Given the description of an element on the screen output the (x, y) to click on. 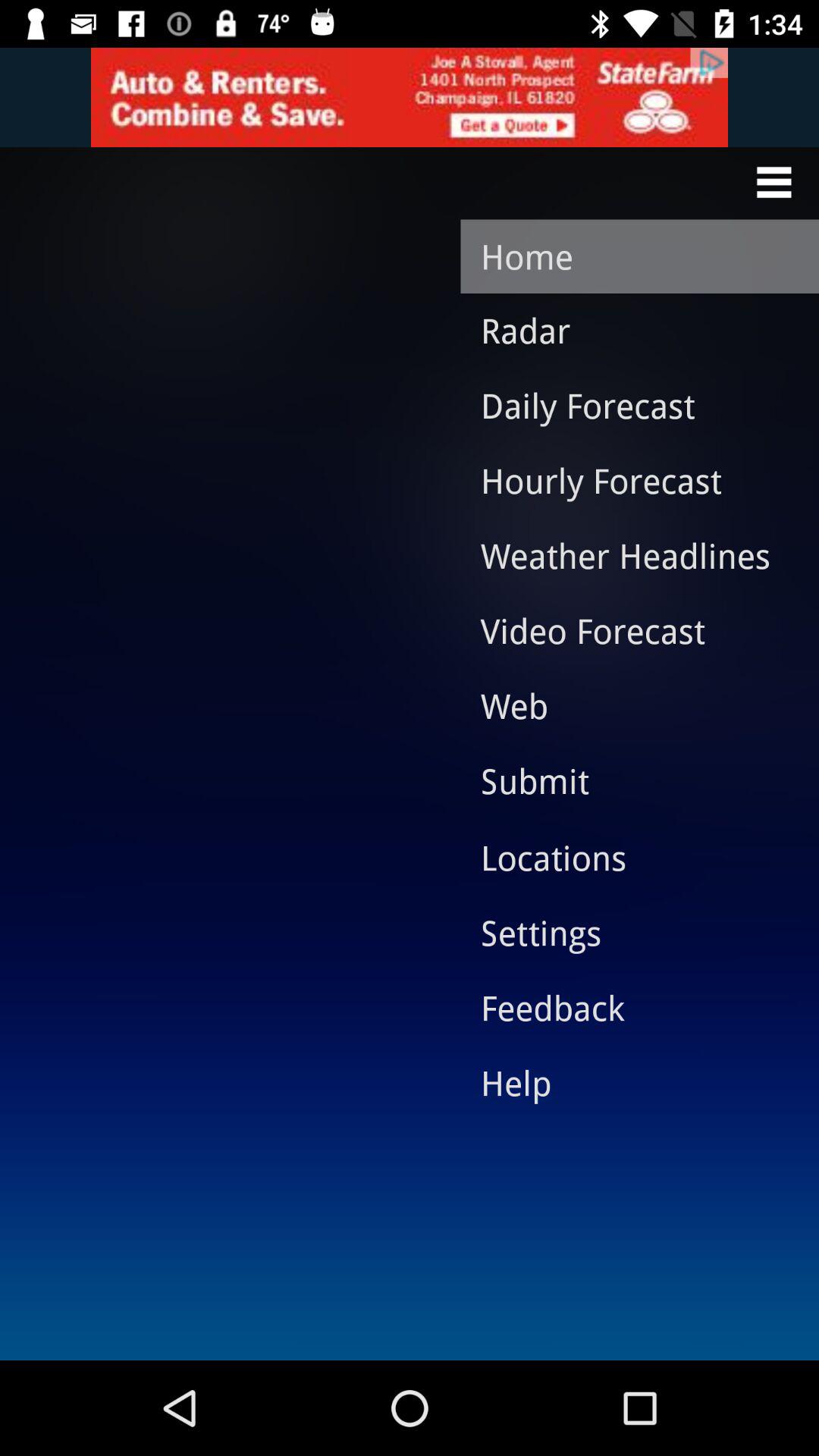
its an advertisement (409, 97)
